Given the description of an element on the screen output the (x, y) to click on. 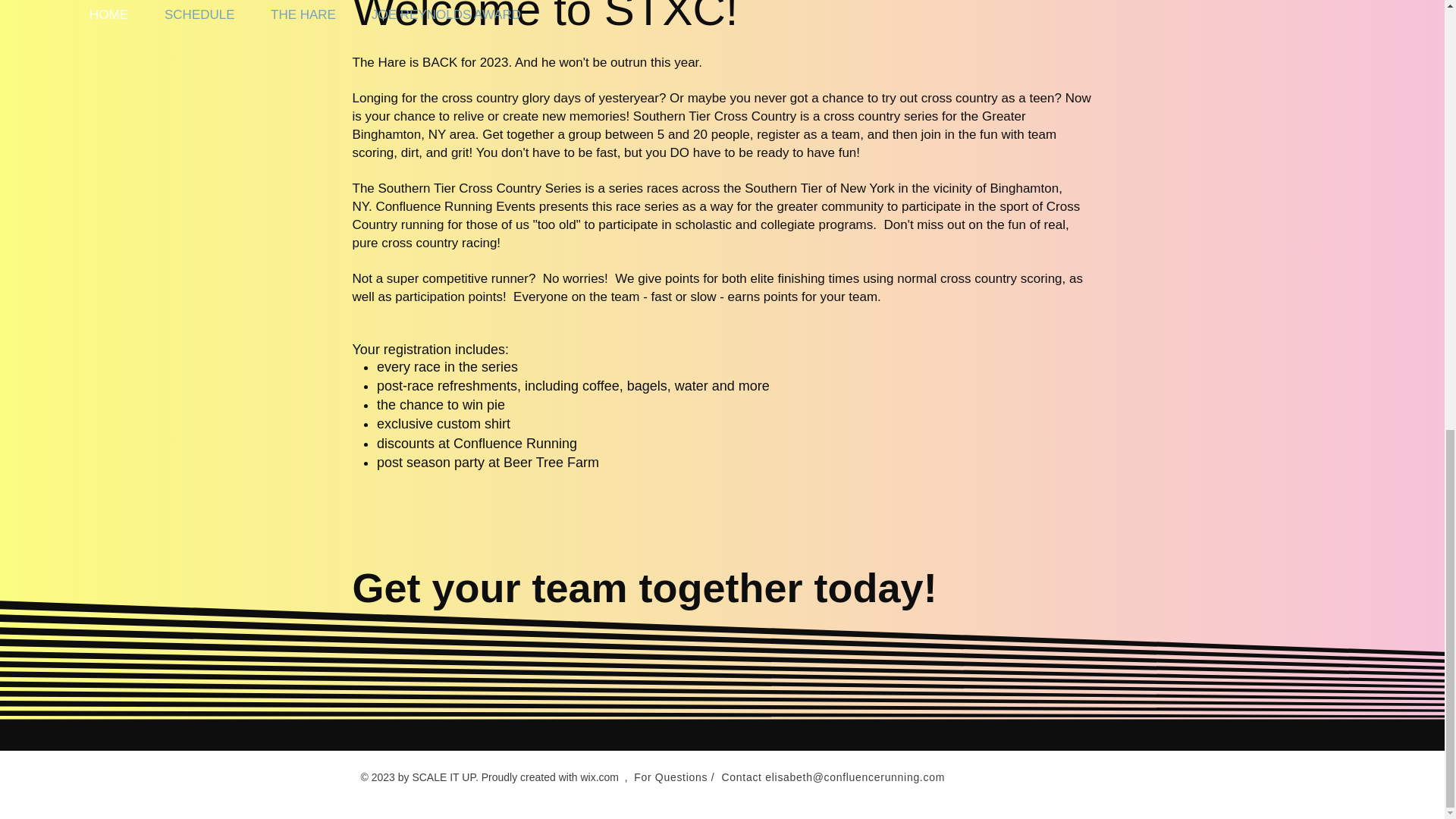
Confluence Running Events (455, 206)
wix.com (598, 776)
